Given the description of an element on the screen output the (x, y) to click on. 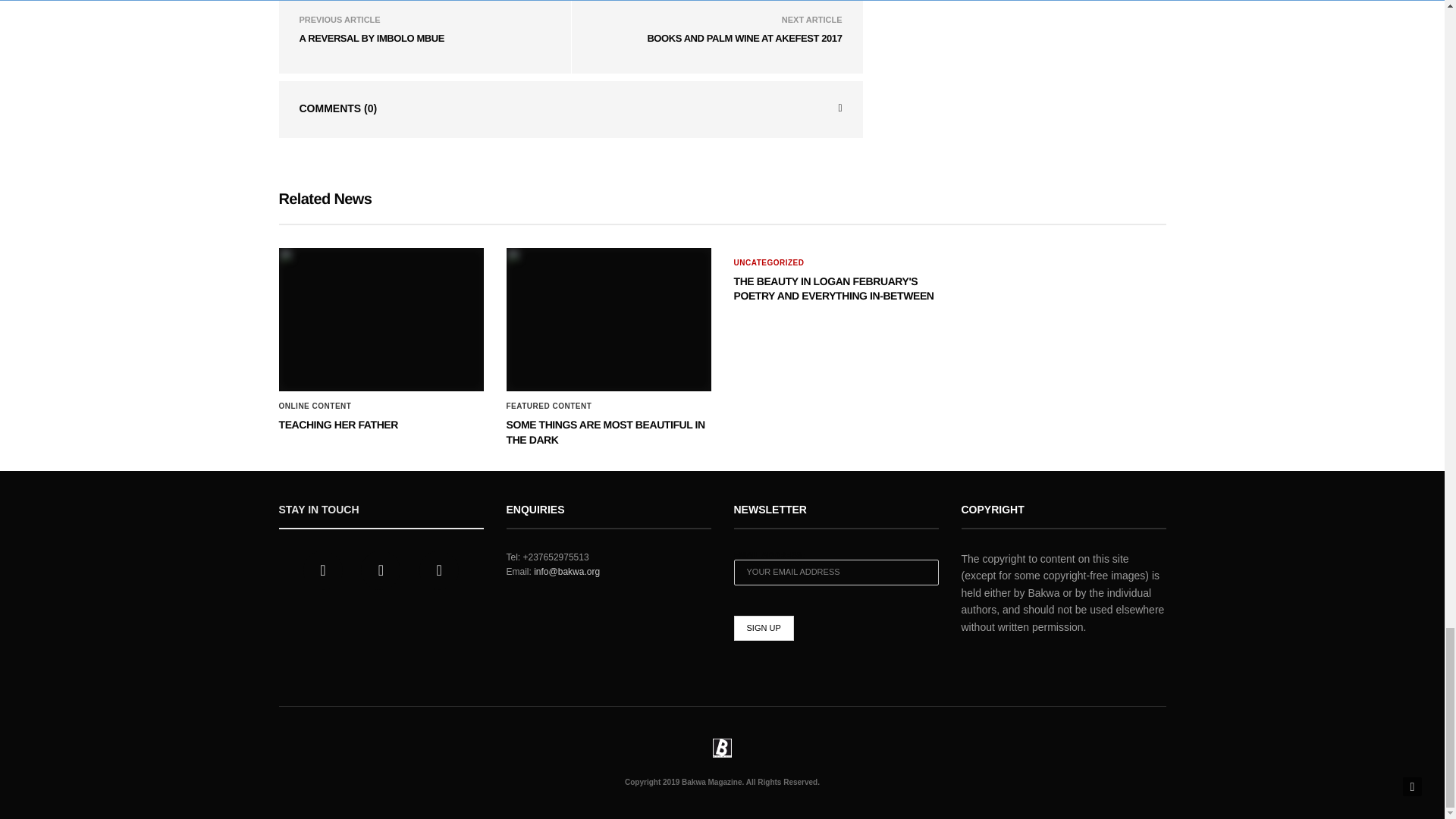
A Reversal by Imbolo Mbue (371, 38)
BOOKS AND PALM WINE AT AKEFEST 2017 (743, 38)
A REVERSAL BY IMBOLO MBUE (371, 38)
Sign up (763, 628)
Books and Palm Wine at AkeFest 2017 (743, 38)
